Given the description of an element on the screen output the (x, y) to click on. 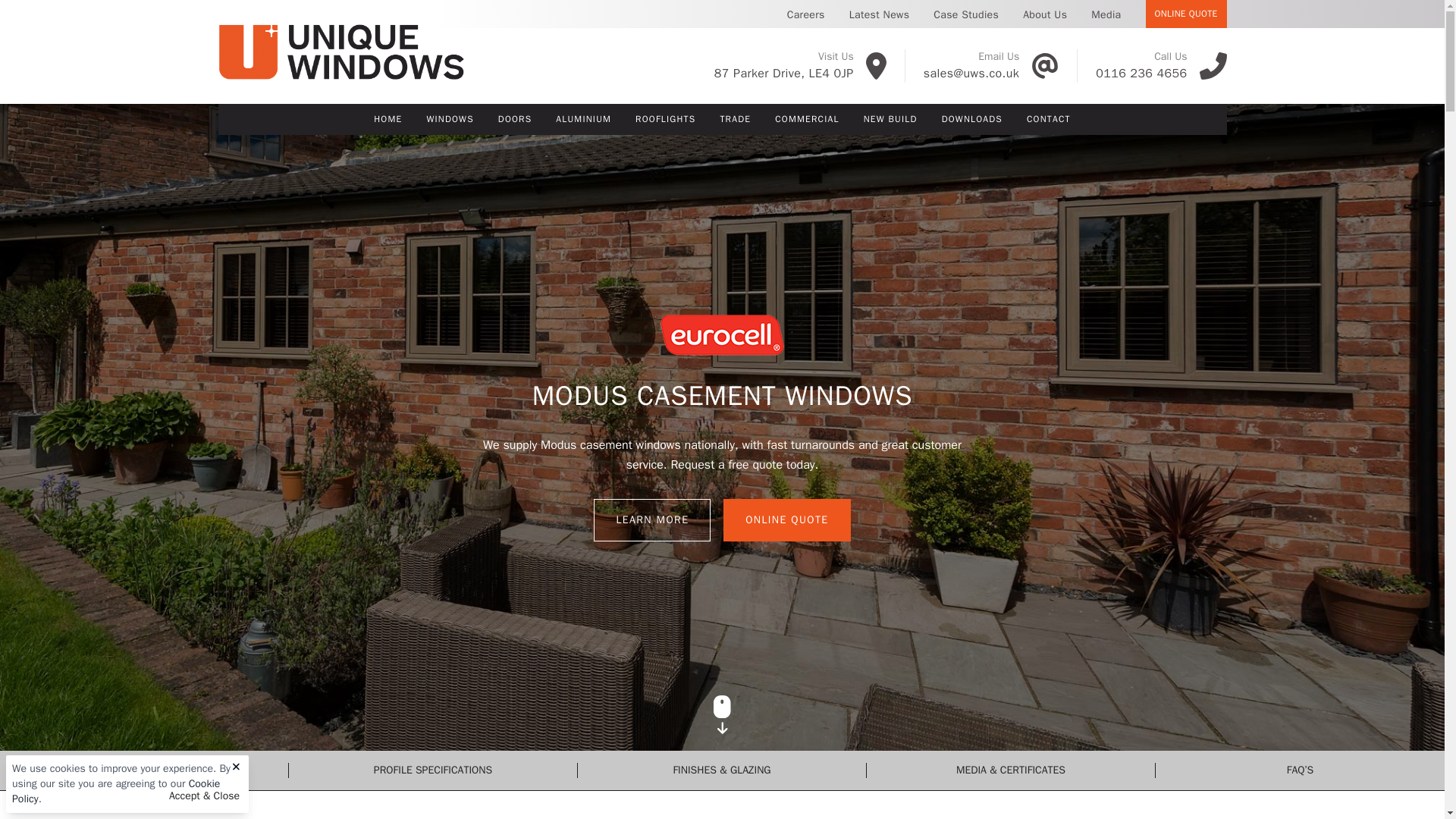
About Us (1044, 22)
Careers (805, 22)
Media (1105, 22)
Case Studies (965, 22)
Latest News (879, 22)
ONLINE QUOTE (1186, 13)
